Given the description of an element on the screen output the (x, y) to click on. 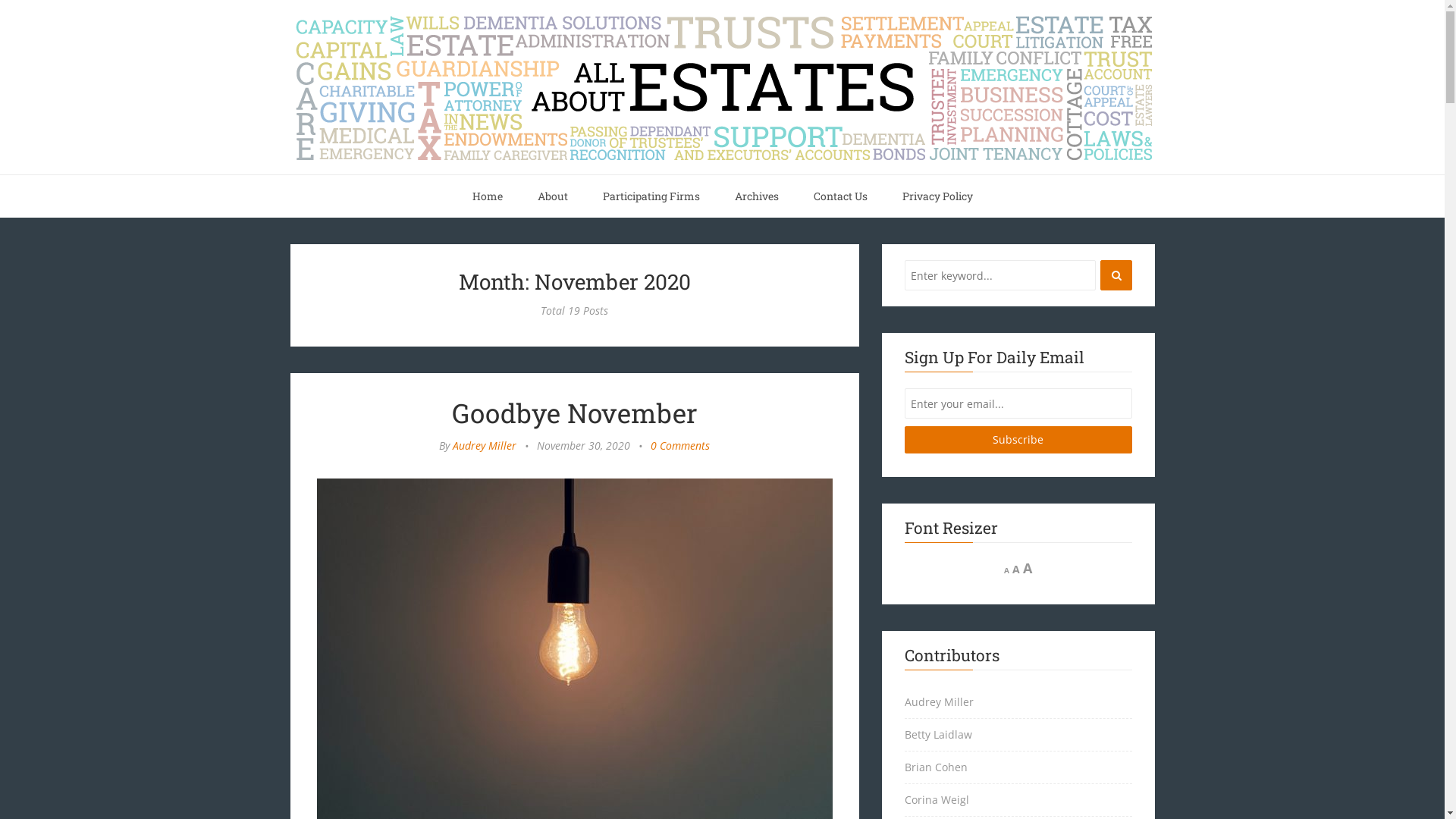
Audrey Miller Element type: text (484, 445)
Archives Element type: text (756, 196)
Goodbye November Element type: text (574, 412)
Audrey Miller Element type: text (1017, 702)
Privacy Policy Element type: text (936, 196)
About Element type: text (552, 196)
0 Comments Element type: text (679, 445)
A Element type: text (1006, 570)
A Element type: text (1015, 568)
Betty Laidlaw Element type: text (1017, 734)
A Element type: text (1027, 567)
Corina Weigl Element type: text (1017, 800)
Home Element type: text (487, 196)
Brian Cohen Element type: text (1017, 767)
Subscribe Element type: text (1017, 439)
Contact Us Element type: text (840, 196)
Participating Firms Element type: text (650, 196)
